Given the description of an element on the screen output the (x, y) to click on. 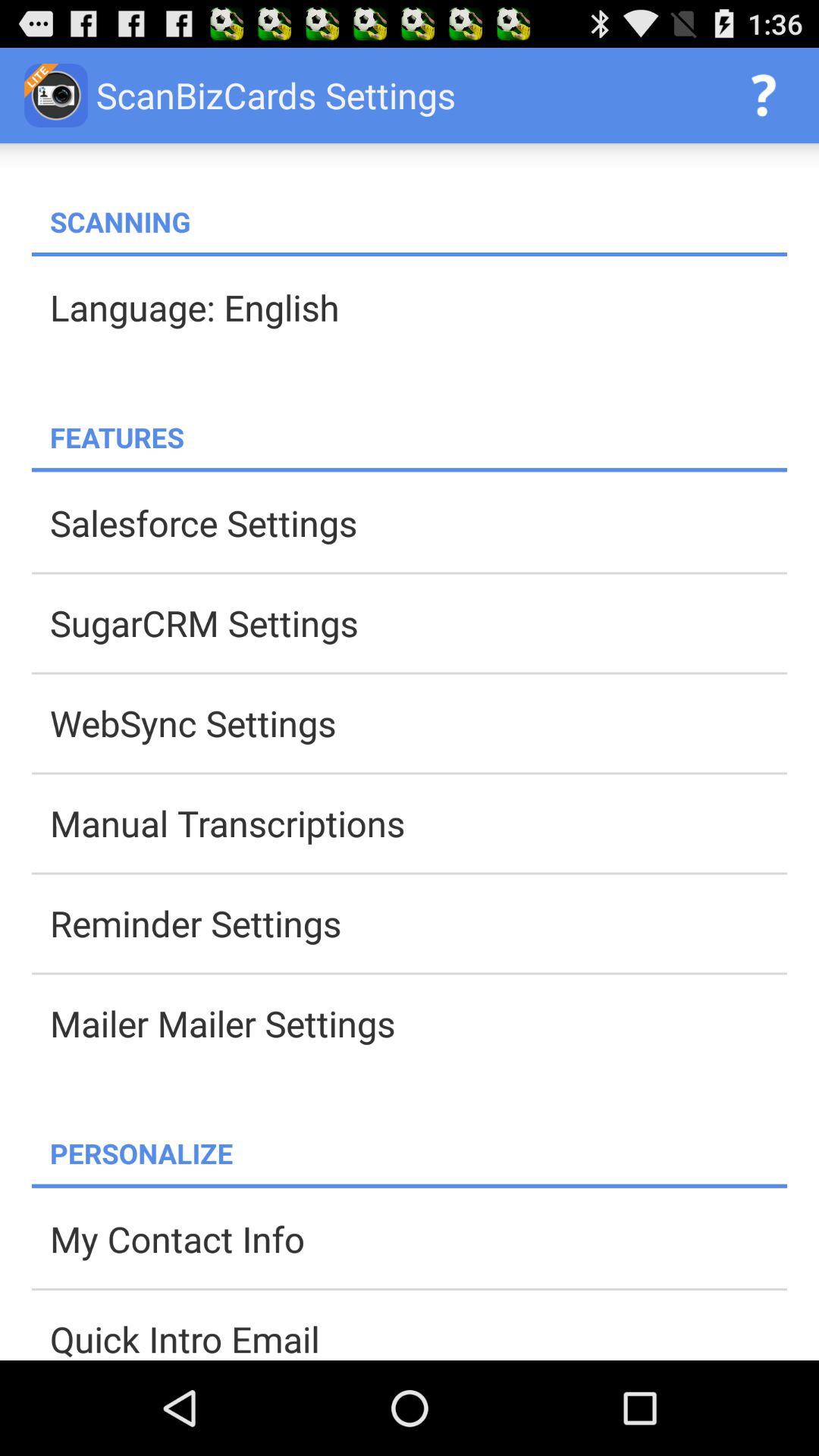
choose icon below salesforce settings (418, 622)
